Given the description of an element on the screen output the (x, y) to click on. 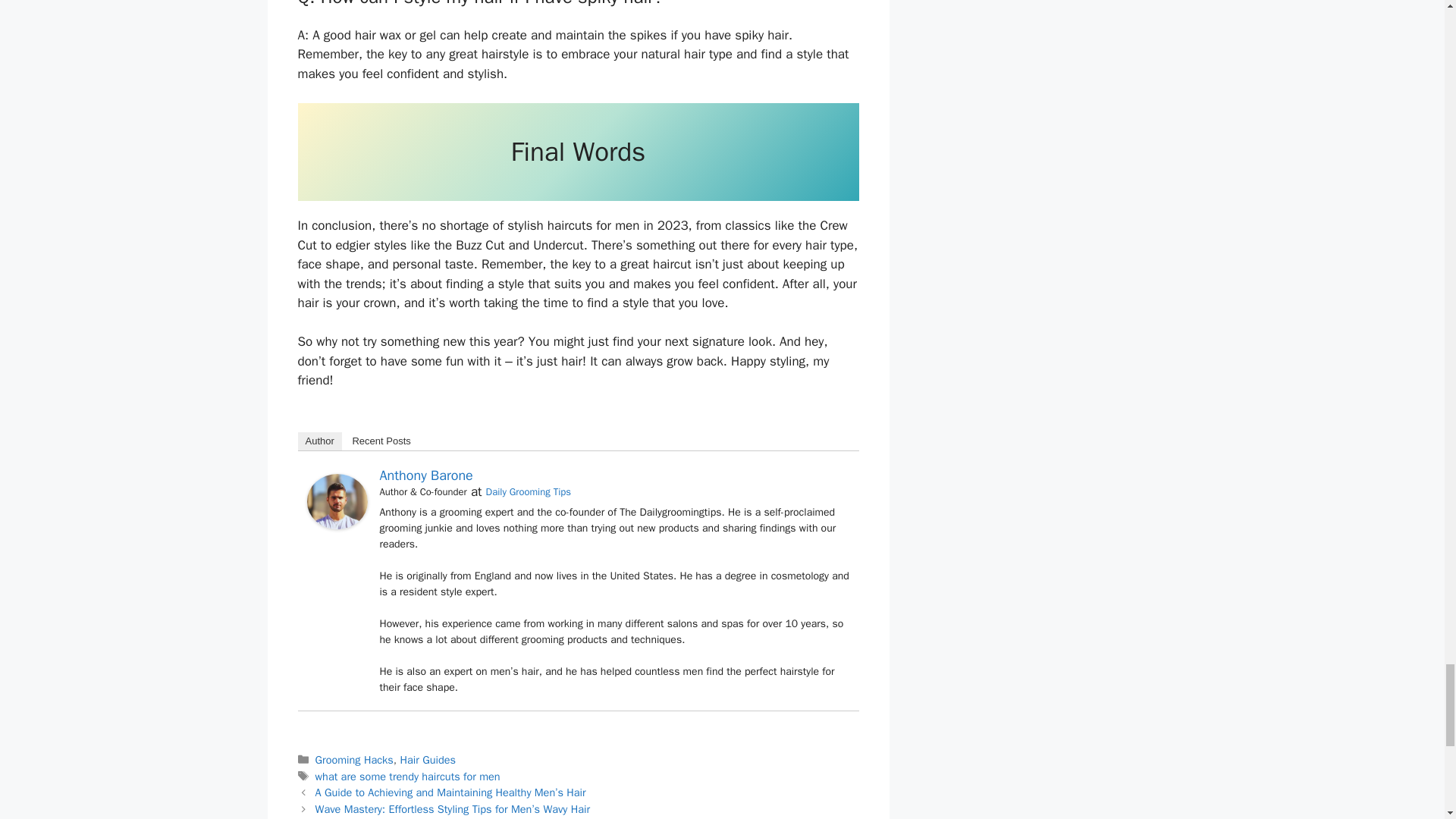
Author (318, 441)
Grooming Hacks (354, 759)
what are some trendy haircuts for men (407, 775)
Hair Guides (428, 759)
Anthony Barone (335, 524)
Recent Posts (380, 441)
Anthony Barone (424, 475)
Daily Grooming Tips (528, 491)
